Given the description of an element on the screen output the (x, y) to click on. 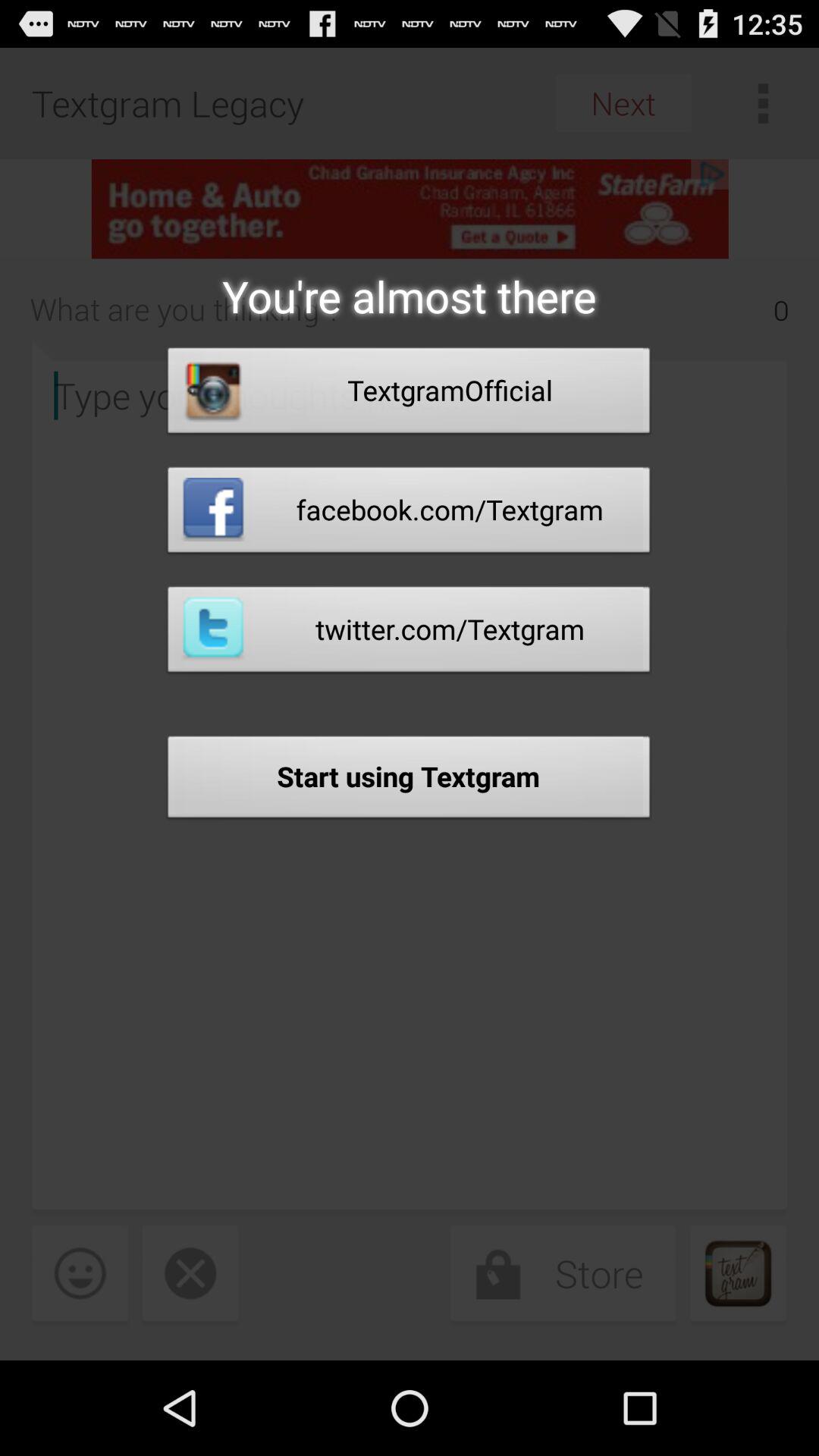
open button below the twitter.com/textgram icon (409, 781)
